Given the description of an element on the screen output the (x, y) to click on. 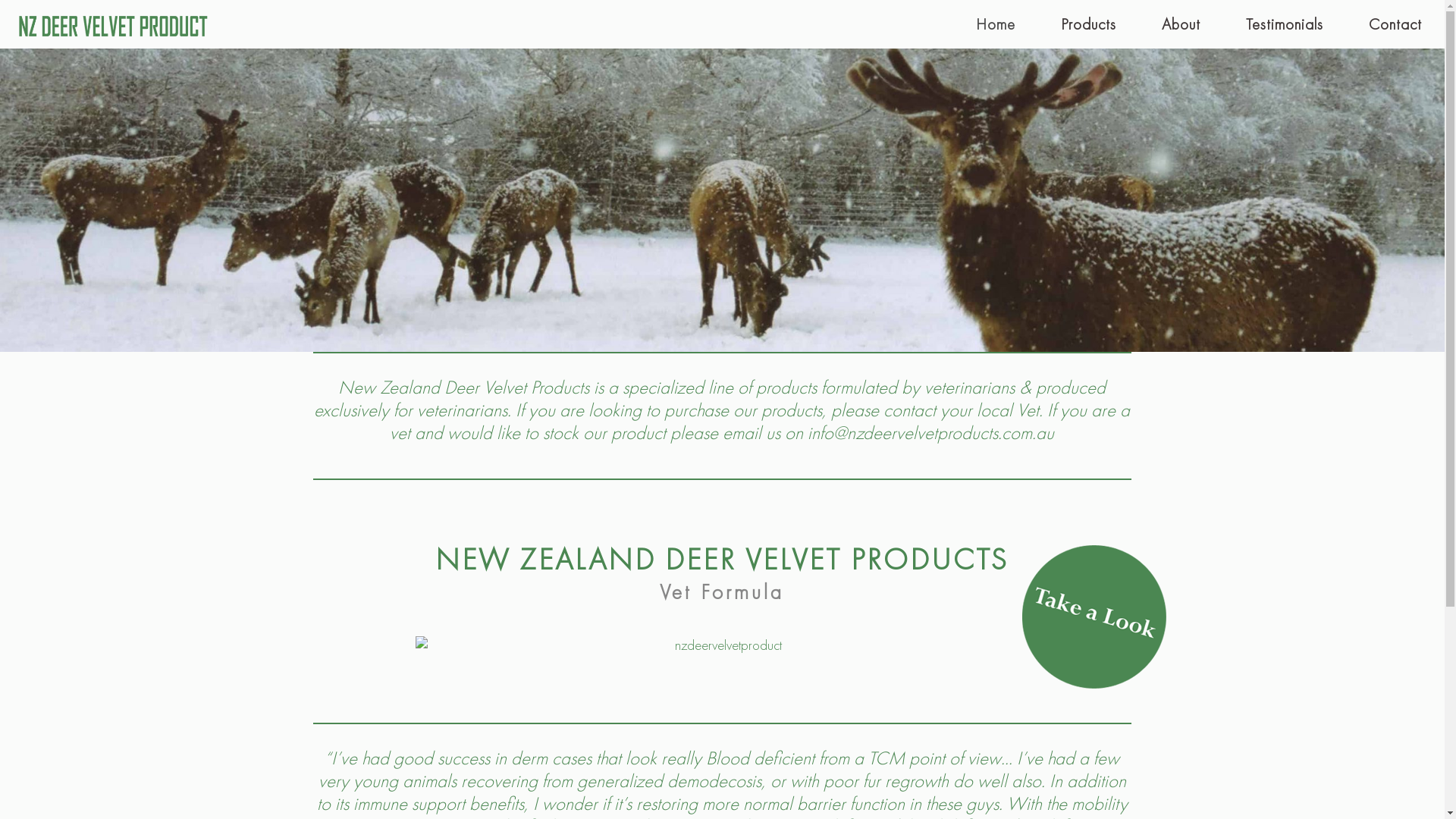
NZ Deer Velvet Products Element type: hover (112, 24)
Home Element type: text (995, 24)
About Element type: text (1181, 24)
Contact Element type: text (1395, 24)
info@nzdeervelvetproducts.com.au Element type: text (930, 432)
Products Element type: text (1088, 24)
Testimonials Element type: text (1284, 24)
